Given the description of an element on the screen output the (x, y) to click on. 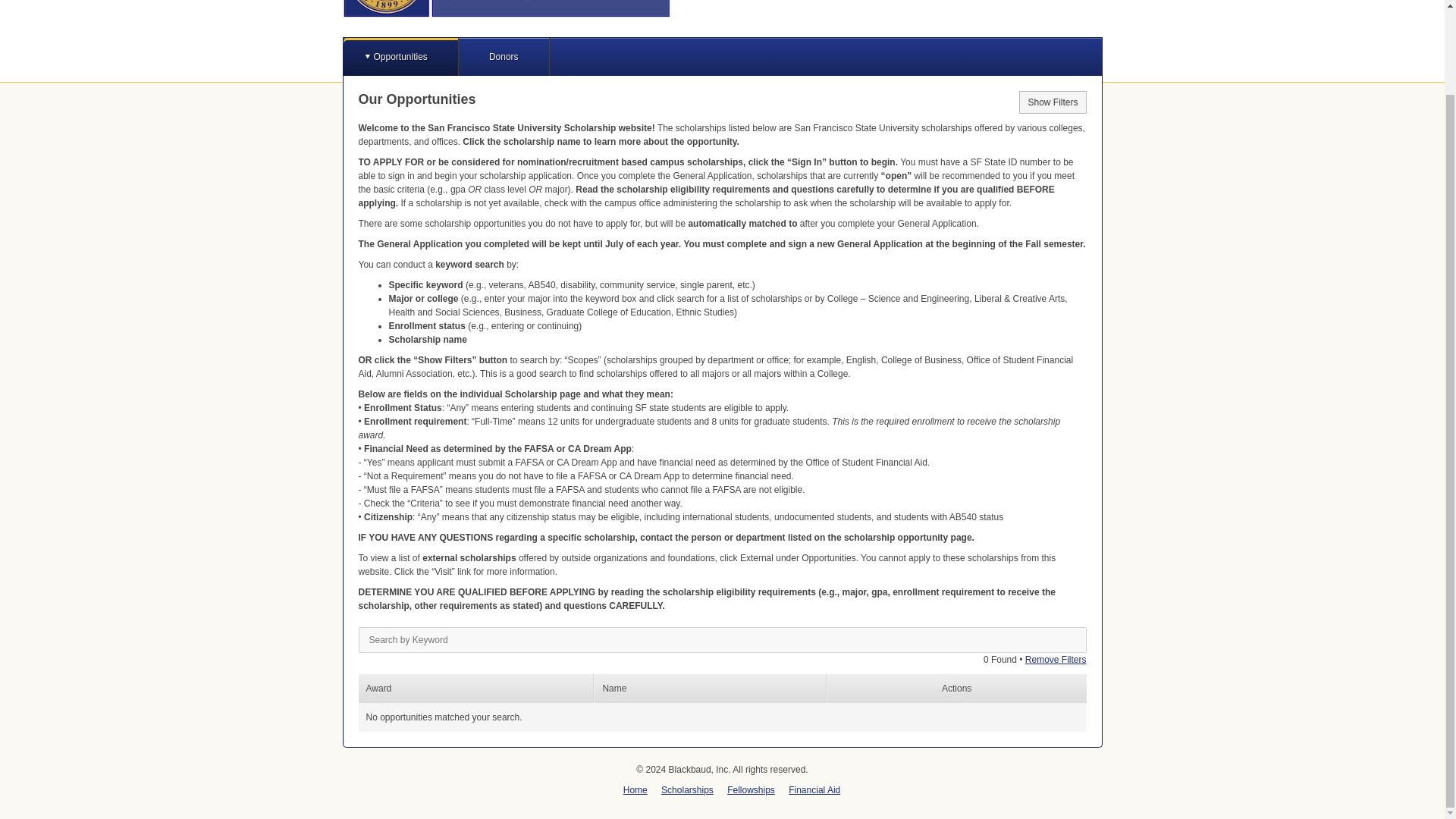
Home (635, 789)
Show Filters (1052, 101)
Opportunities (399, 56)
Scholarships (687, 789)
Financial Aid (814, 789)
Donors (503, 56)
Fellowships (750, 789)
San Francisco State University Scholarship Opportunities (505, 8)
Remove Filters (1055, 659)
